Given the description of an element on the screen output the (x, y) to click on. 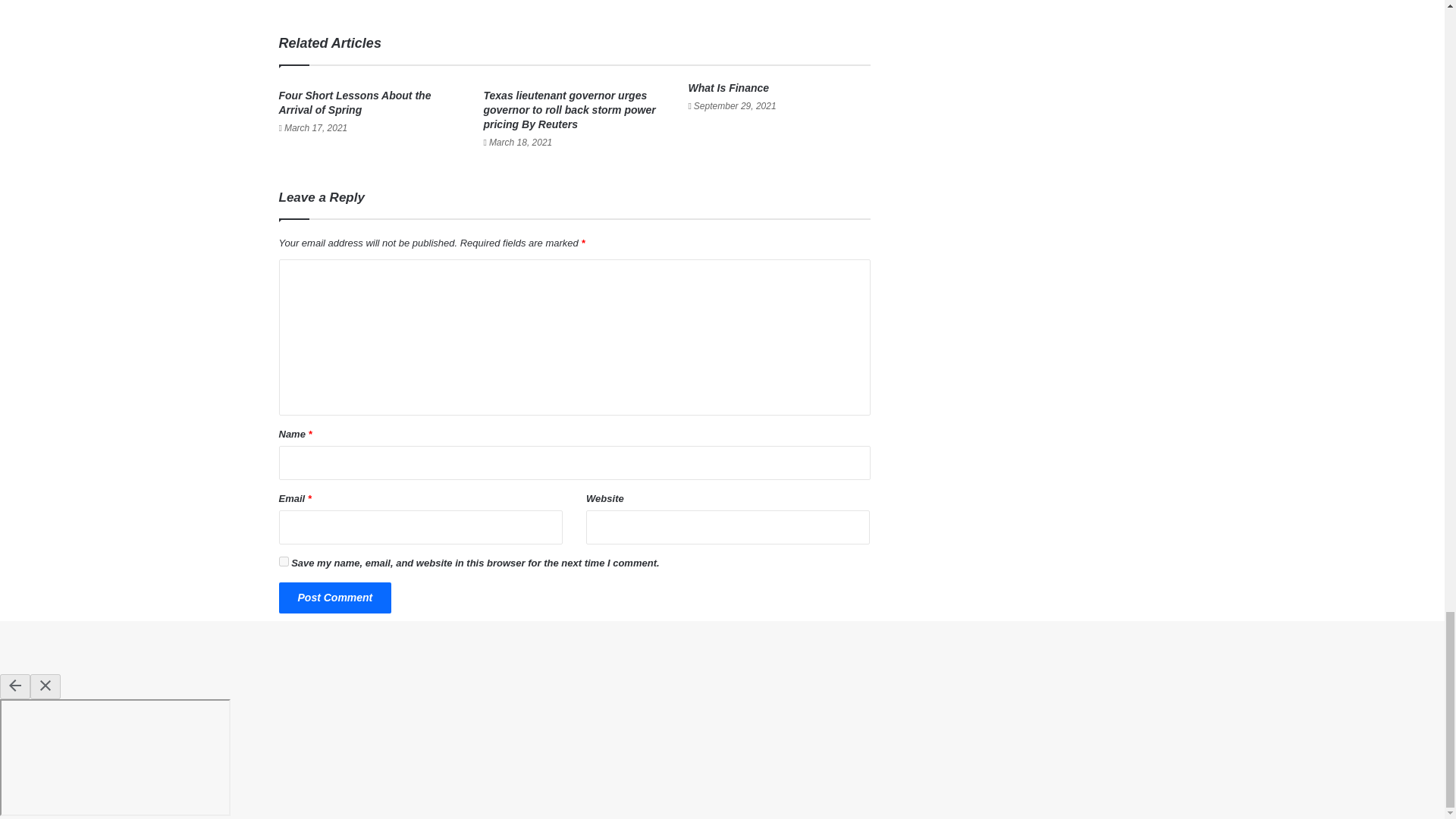
Post Comment (335, 597)
Post Comment (335, 597)
Four Short Lessons About the Arrival of Spring (354, 102)
What Is Finance (727, 87)
yes (283, 561)
